Given the description of an element on the screen output the (x, y) to click on. 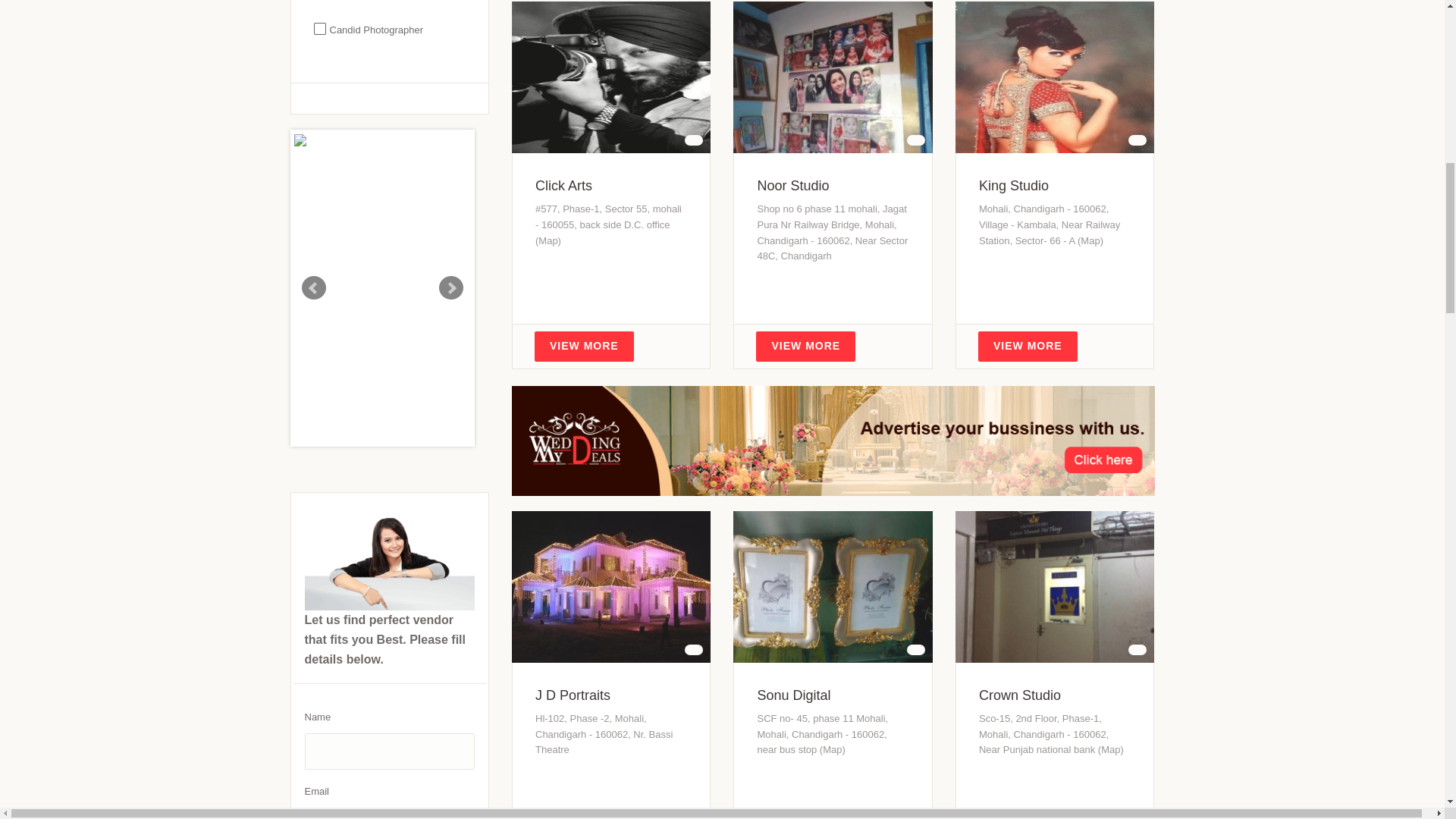
Crown Studio in mohali  (1019, 694)
Noor Studio in mohali  (792, 185)
King Studio in mohali  (1013, 185)
Click Arts in mohali  (563, 185)
42 (307, 28)
J D Portraits in mohali  (572, 694)
Sonu Digital in mohali  (793, 694)
